Given the description of an element on the screen output the (x, y) to click on. 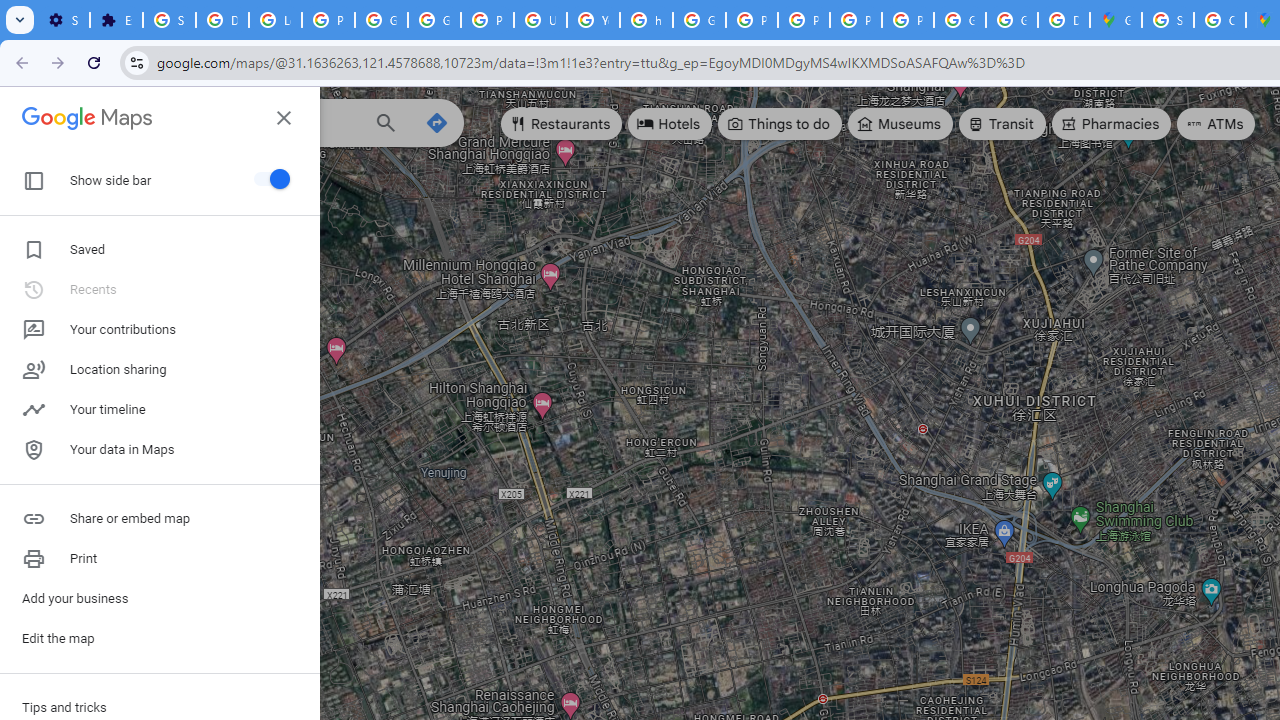
Pharmacies (1111, 124)
Google Maps (87, 116)
Recents (35, 254)
Print (159, 558)
Google Maps (1115, 20)
Your data in Maps (159, 449)
Delete photos & videos - Computer - Google Photos Help (222, 20)
